Given the description of an element on the screen output the (x, y) to click on. 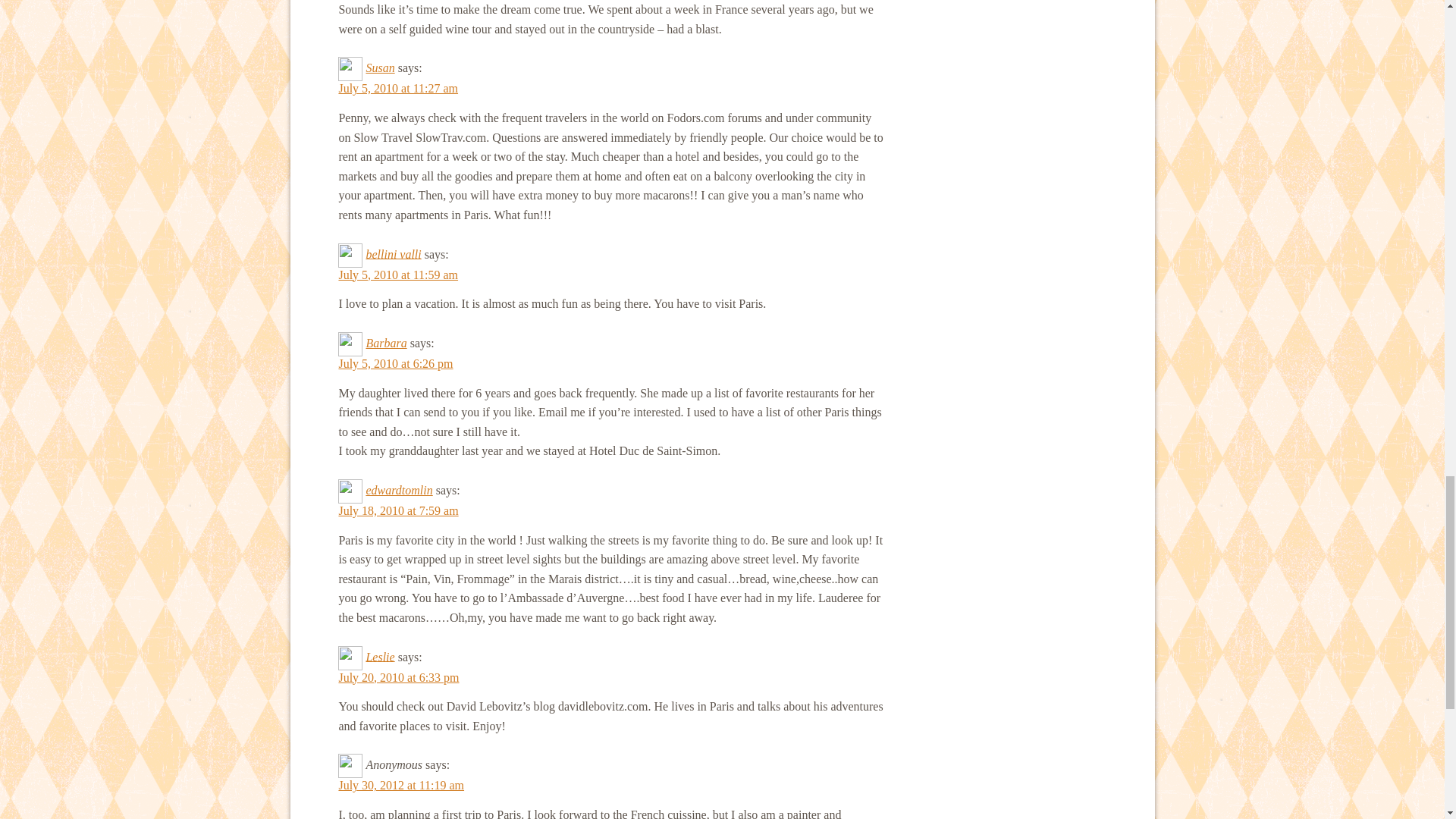
Leslie (379, 656)
July 20, 2010 at 6:33 pm (397, 676)
July 5, 2010 at 11:27 am (397, 88)
Susan (379, 67)
July 30, 2012 at 11:19 am (400, 784)
bellini valli (392, 253)
July 18, 2010 at 7:59 am (397, 510)
July 5, 2010 at 6:26 pm (394, 363)
edwardtomlin (398, 490)
July 5, 2010 at 11:59 am (397, 274)
